Given the description of an element on the screen output the (x, y) to click on. 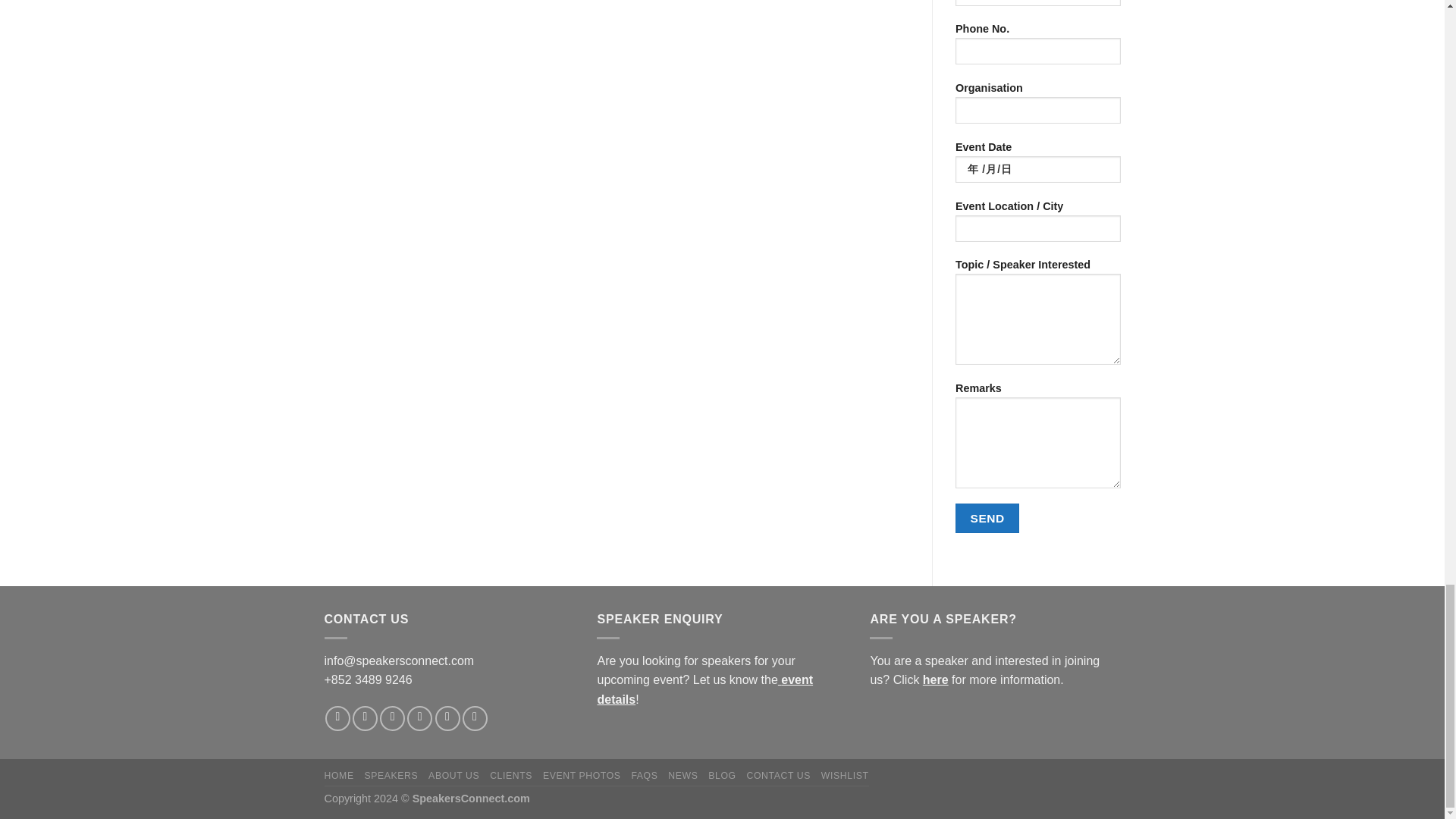
Send (987, 518)
